Given the description of an element on the screen output the (x, y) to click on. 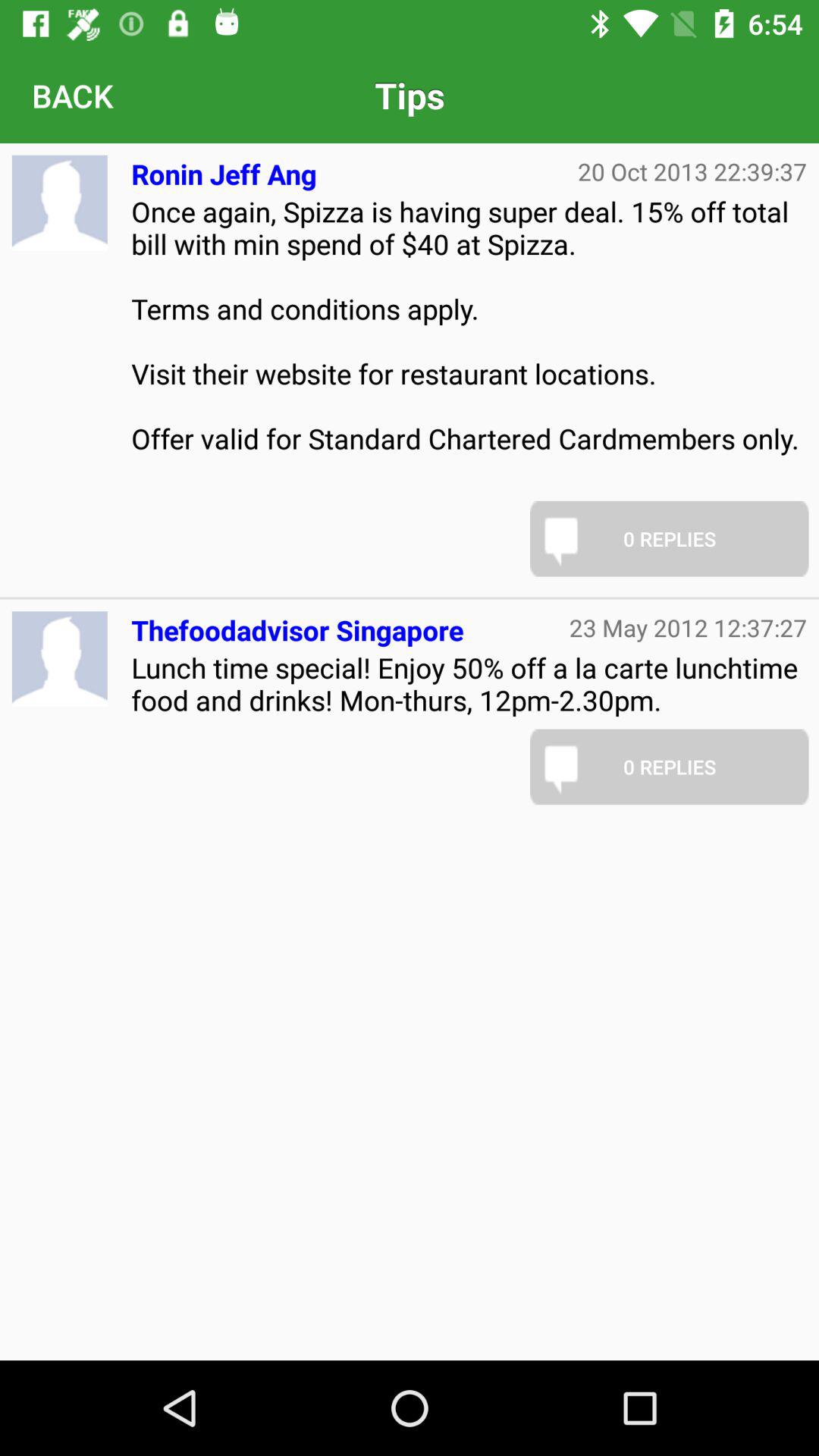
click on the back option (72, 95)
